Given the description of an element on the screen output the (x, y) to click on. 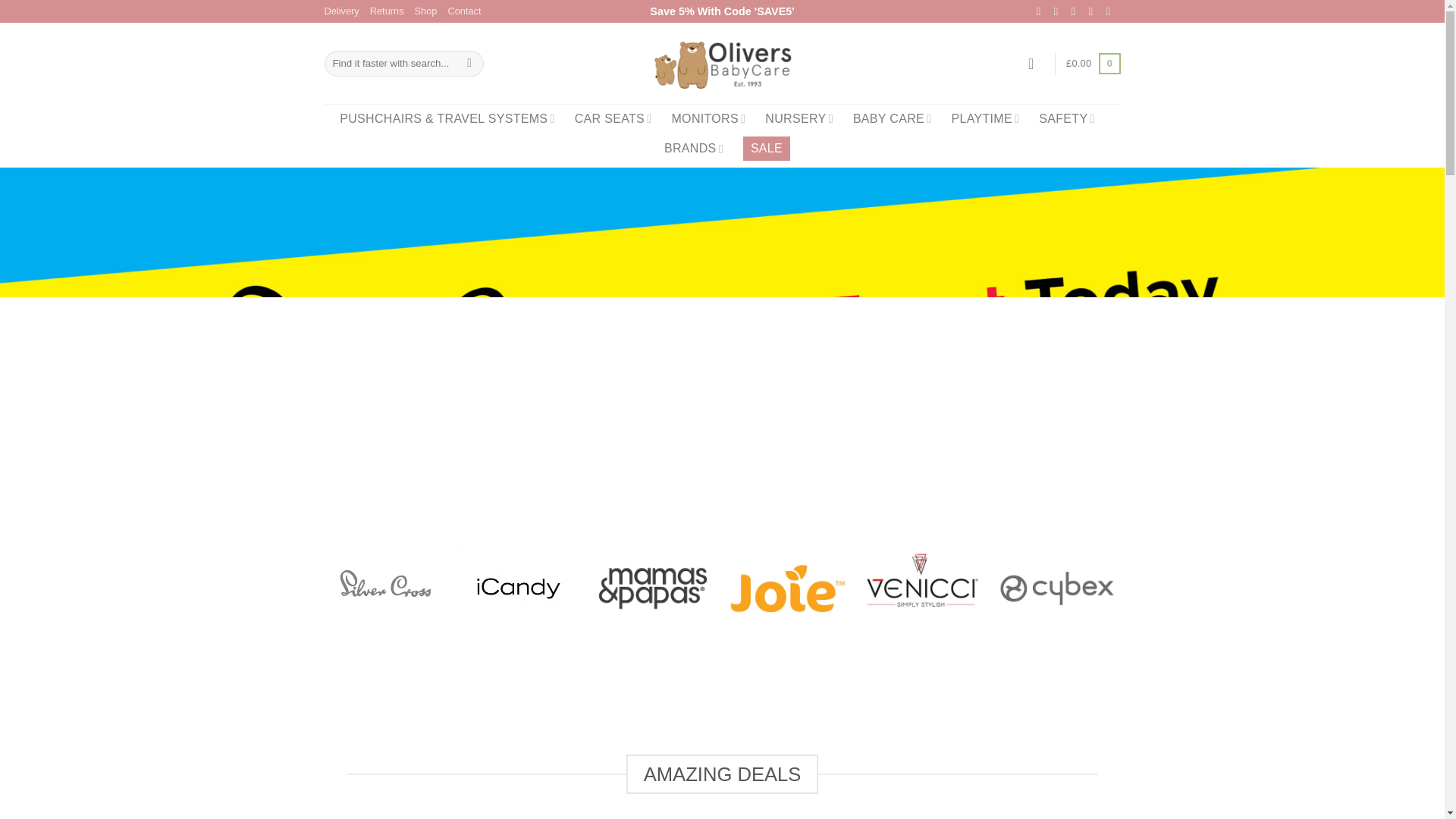
Delivery (341, 11)
Contact (463, 11)
Basket (1092, 63)
Shop (426, 11)
Search (469, 63)
Returns (386, 11)
